Given the description of an element on the screen output the (x, y) to click on. 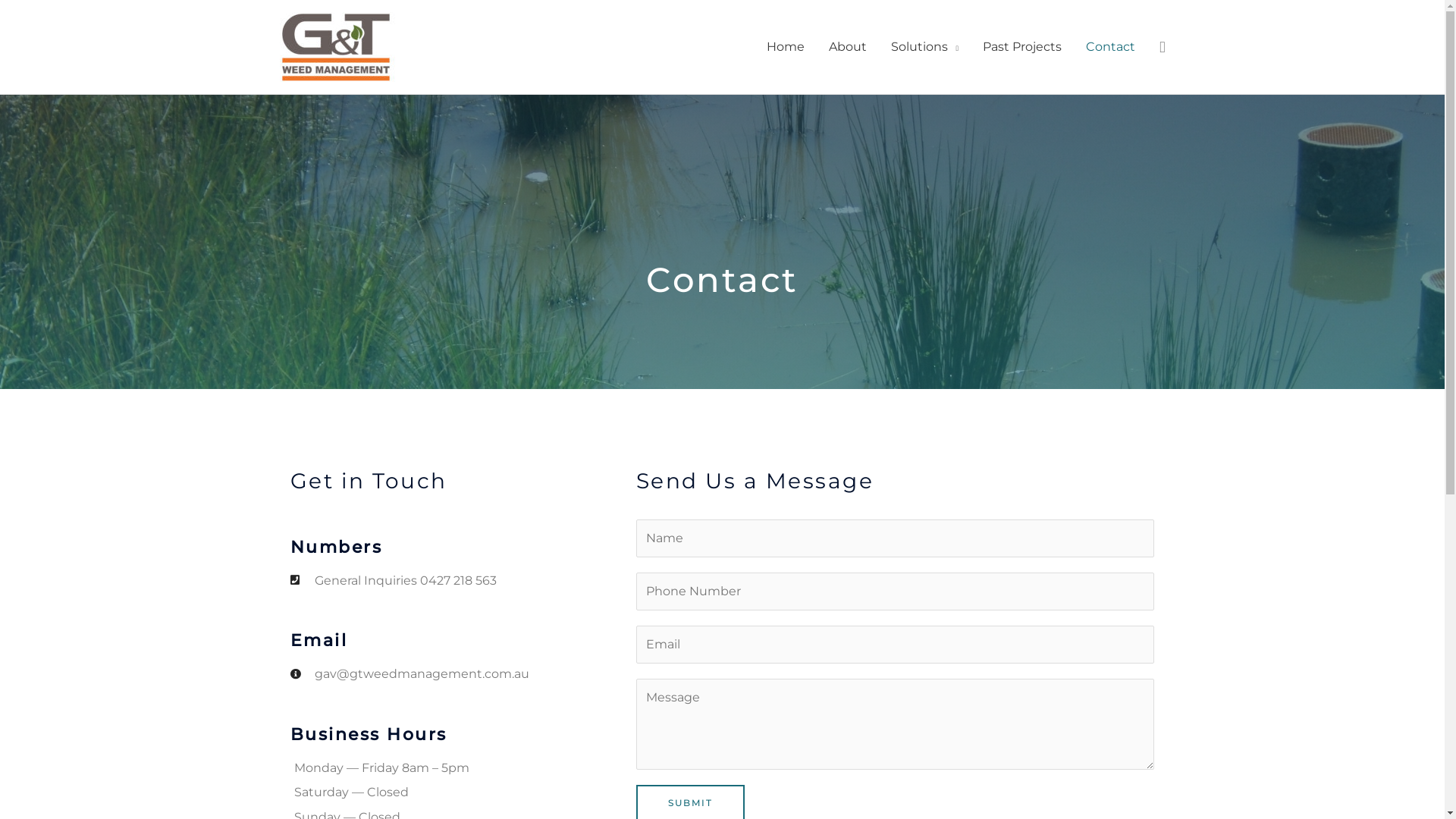
About Element type: text (847, 46)
Solutions Element type: text (924, 46)
Past Projects Element type: text (1021, 46)
Search Element type: text (1162, 47)
General Inquiries 0427 218 563 Element type: text (462, 579)
Contact Element type: text (1110, 46)
gav@gtweedmanagement.com.au Element type: text (462, 674)
Home Element type: text (785, 46)
